Given the description of an element on the screen output the (x, y) to click on. 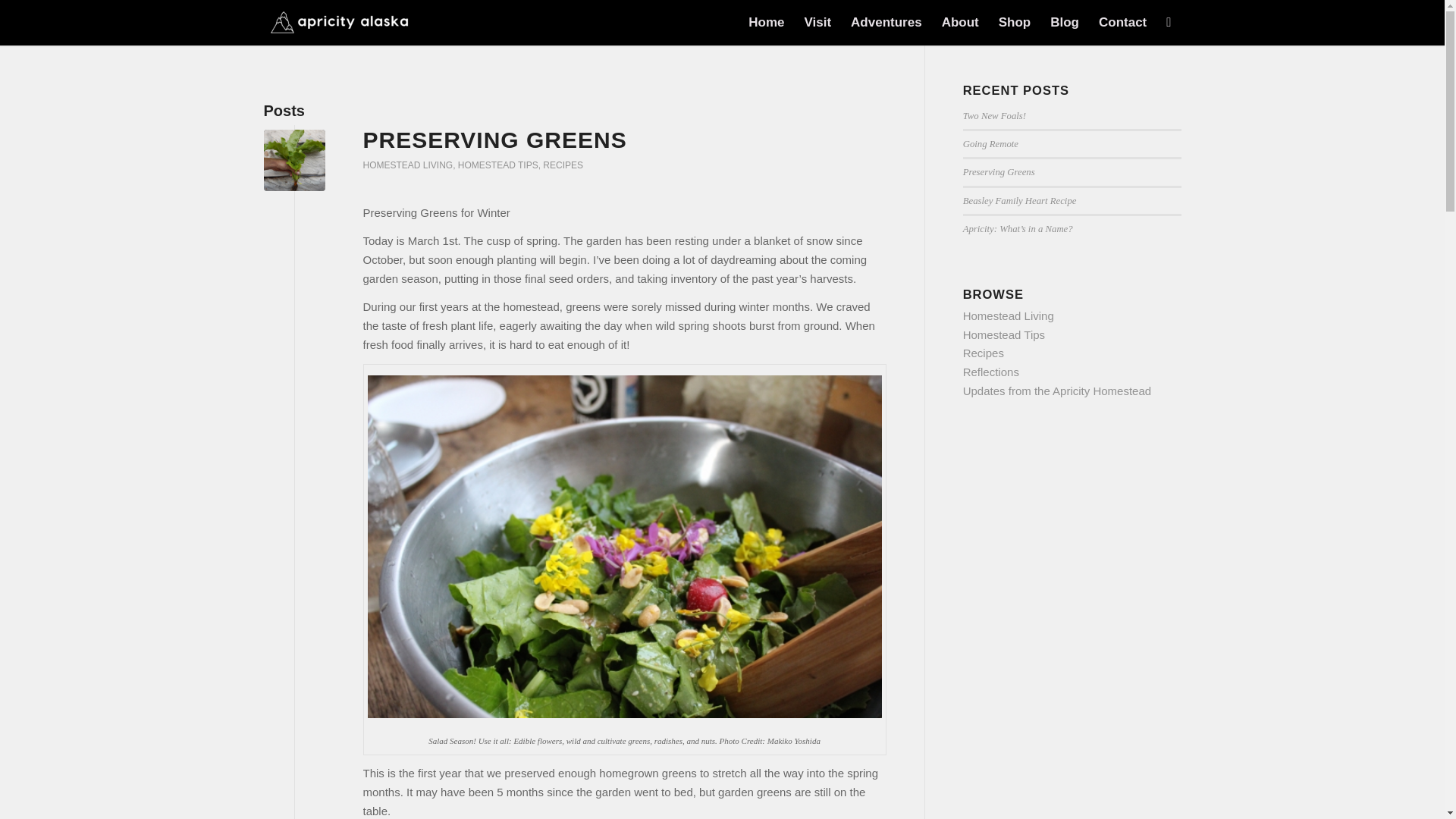
Permanent Link: Preserving Greens (494, 139)
About (959, 22)
Recipes (983, 352)
Home (765, 22)
PRESERVING GREENS (494, 139)
HOMESTEAD LIVING (407, 164)
Shop (1014, 22)
Preserving Greens (293, 159)
Homestead Living (1008, 315)
Homestead Tips (1003, 334)
Preserving Greens (998, 172)
Visit (817, 22)
Contact (1122, 22)
Blog (1065, 22)
Reflections (990, 371)
